Given the description of an element on the screen output the (x, y) to click on. 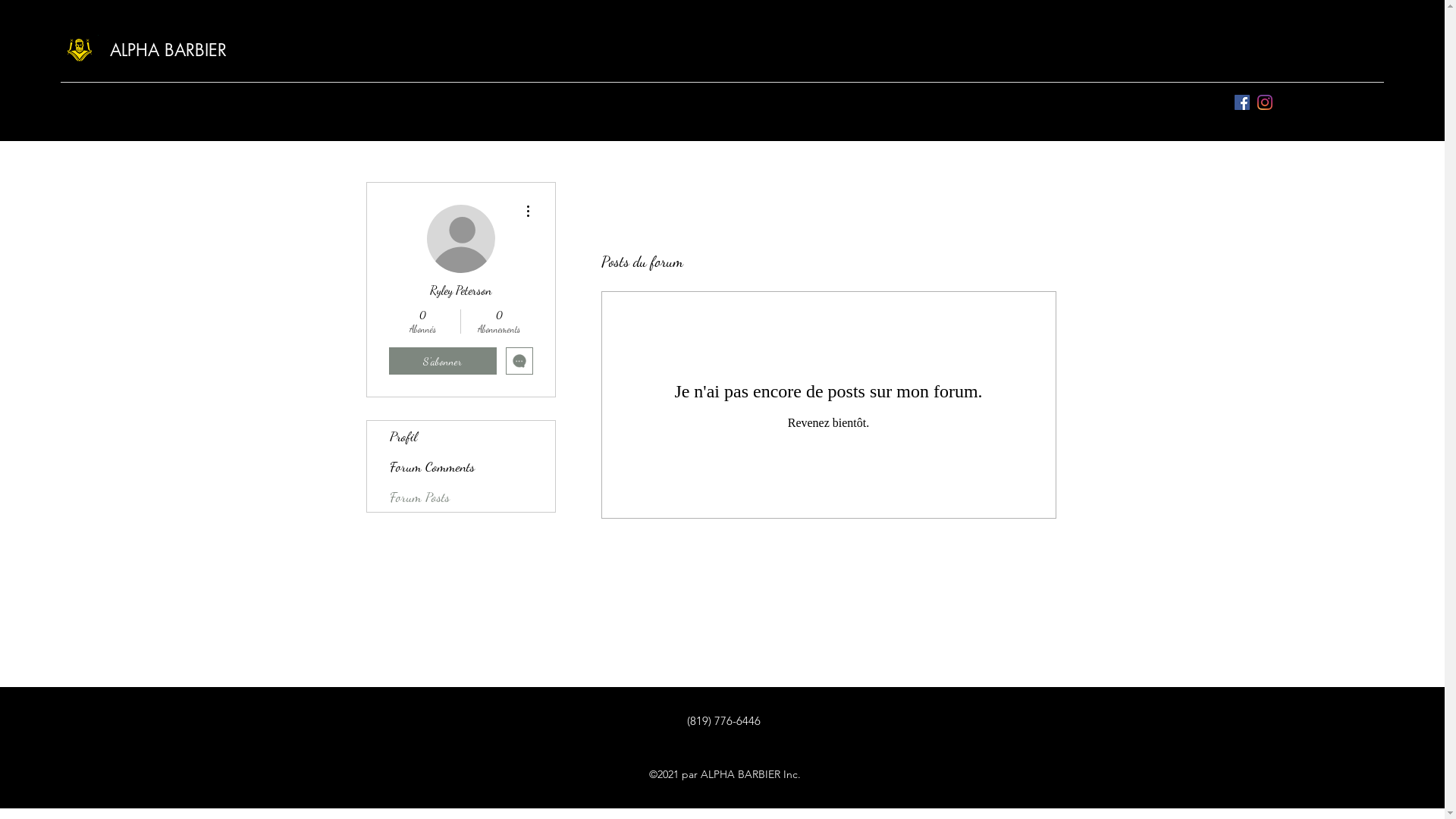
Profil Element type: text (461, 435)
S'abonner Element type: text (441, 360)
ALPHA BARBIER Element type: text (167, 49)
Forum Posts Element type: text (461, 496)
Forum Comments Element type: text (461, 466)
0
Abonnements Element type: text (499, 321)
